Given the description of an element on the screen output the (x, y) to click on. 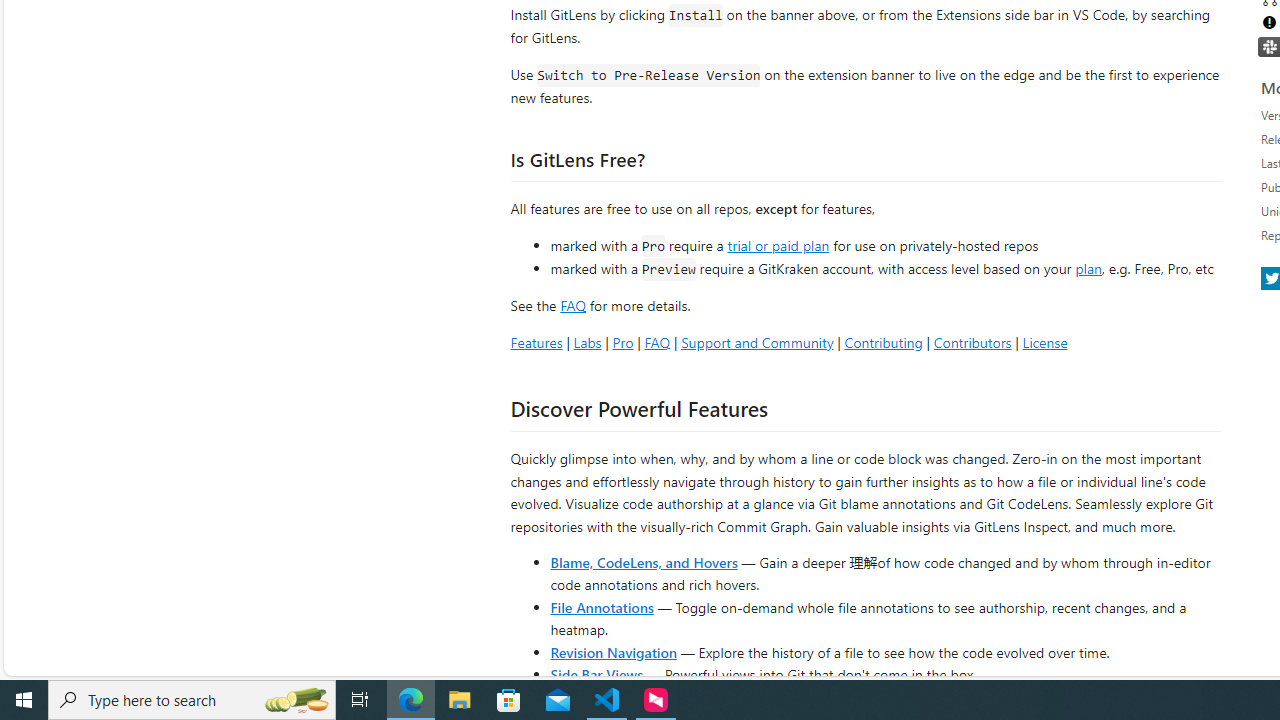
plan (1088, 269)
Side Bar Views (596, 673)
trial or paid plan (778, 244)
Revision Navigation (613, 651)
